Given the description of an element on the screen output the (x, y) to click on. 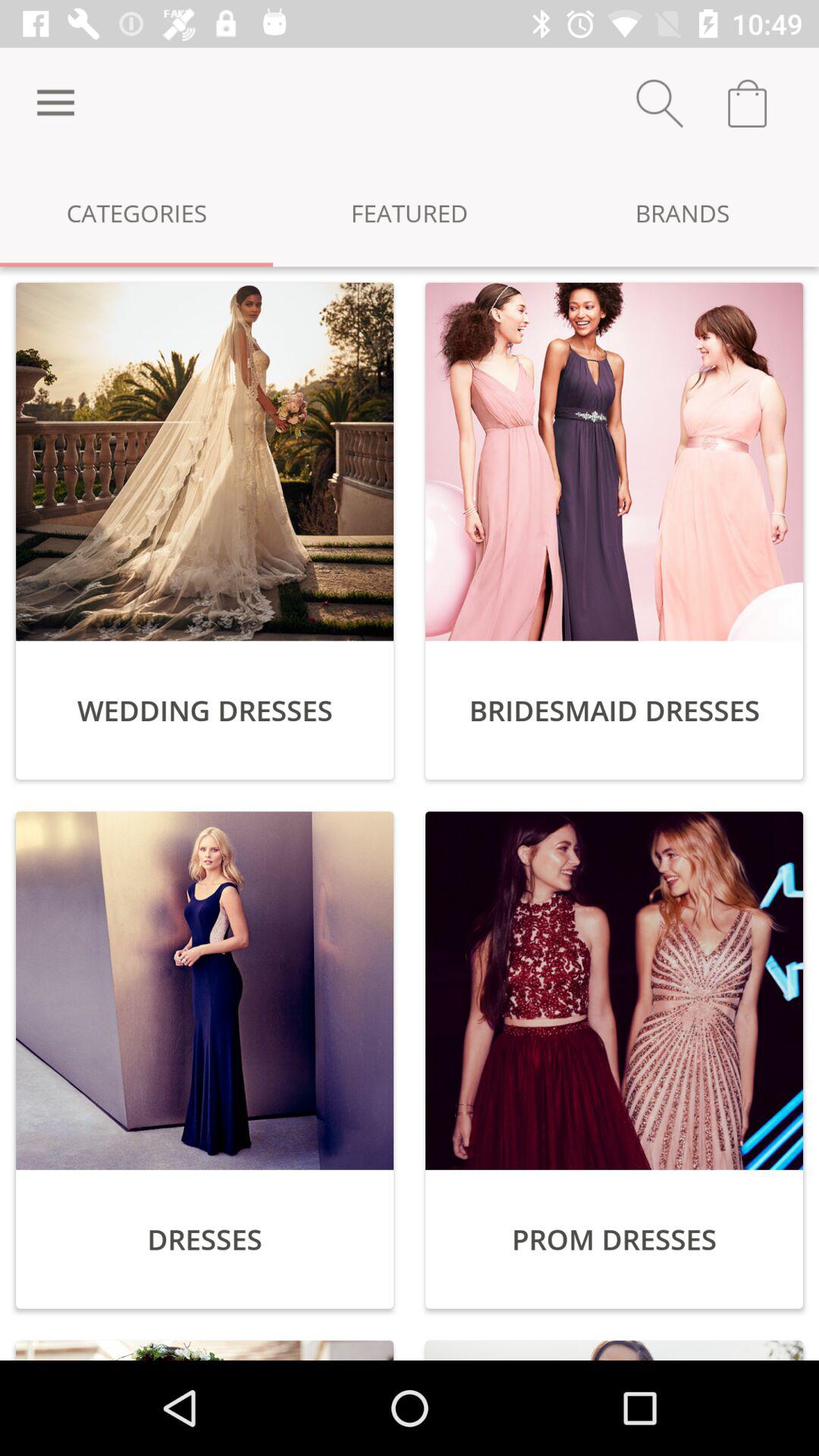
click item next to the featured item (136, 212)
